Given the description of an element on the screen output the (x, y) to click on. 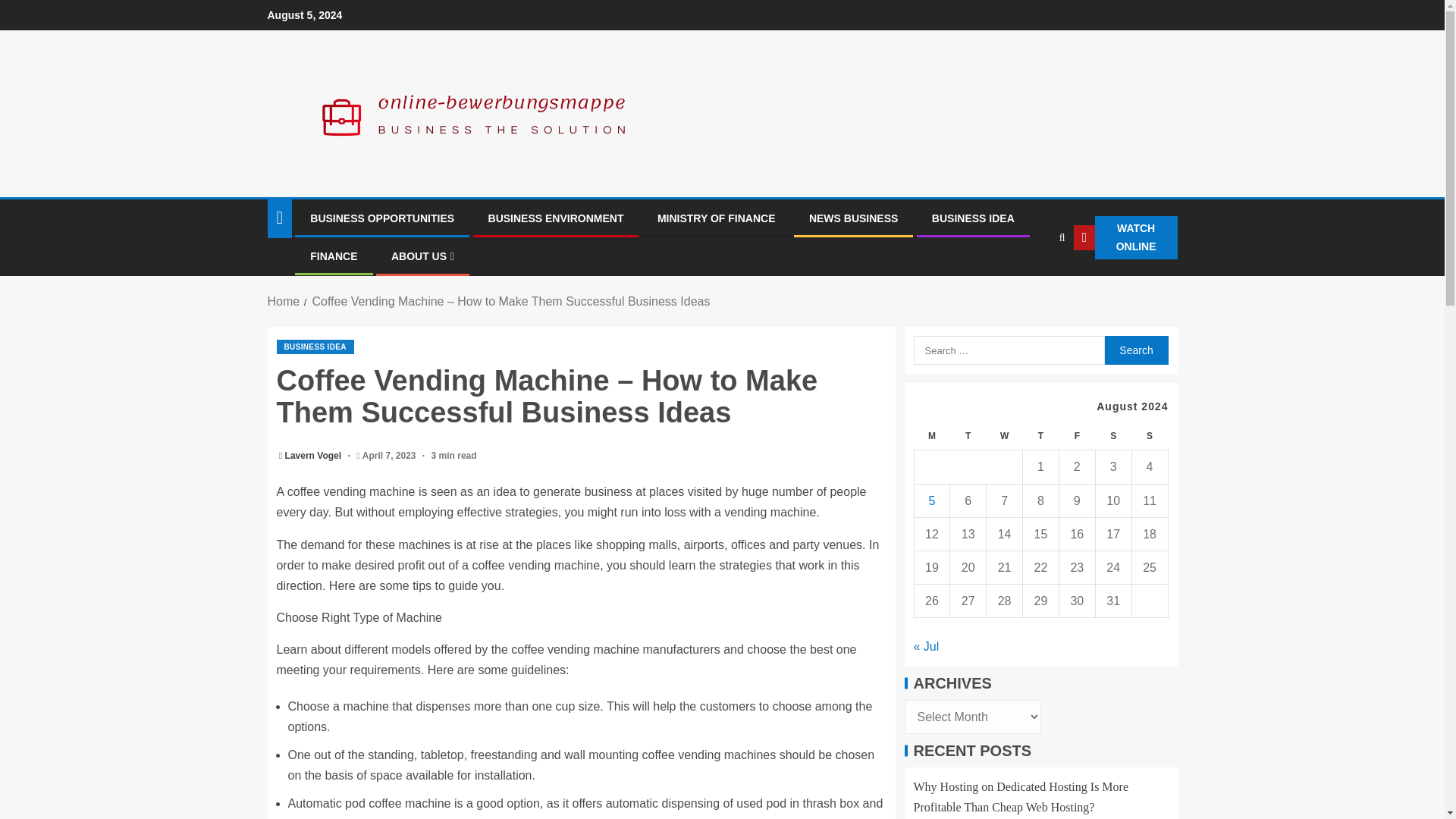
Saturday (1112, 436)
Home (282, 300)
BUSINESS IDEA (972, 218)
WATCH ONLINE (1125, 238)
Tuesday (968, 436)
Thursday (1041, 436)
NEWS BUSINESS (853, 218)
Search (1135, 349)
FINANCE (333, 256)
MINISTRY OF FINANCE (717, 218)
Search (1135, 349)
BUSINESS ENVIRONMENT (555, 218)
BUSINESS OPPORTUNITIES (382, 218)
Sunday (1149, 436)
BUSINESS IDEA (314, 346)
